Given the description of an element on the screen output the (x, y) to click on. 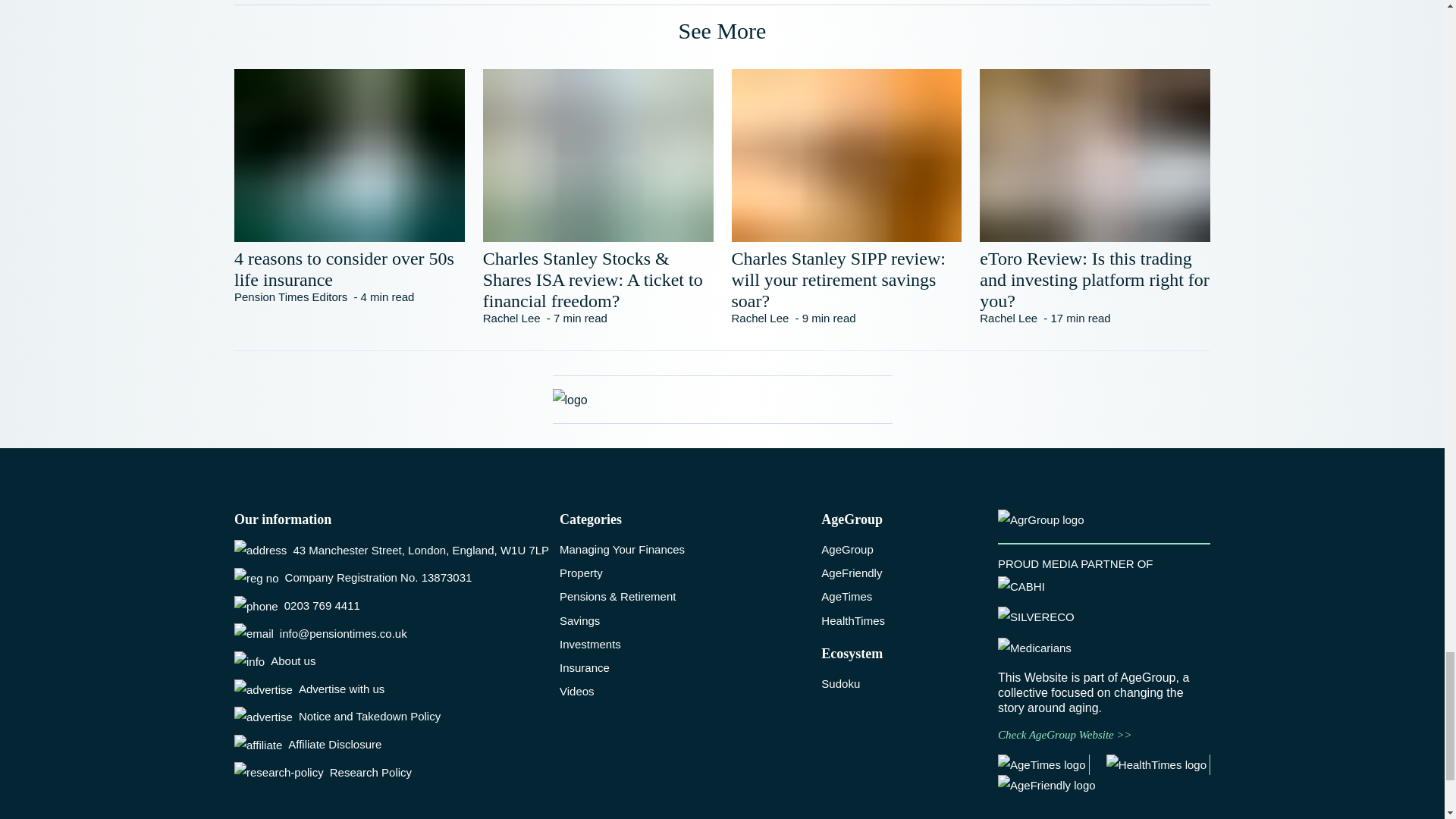
4 reasons to consider over 50s life insurance (349, 269)
Pension Times Editors (290, 296)
4 reasons to consider over 50s life insurance (349, 269)
